Given the description of an element on the screen output the (x, y) to click on. 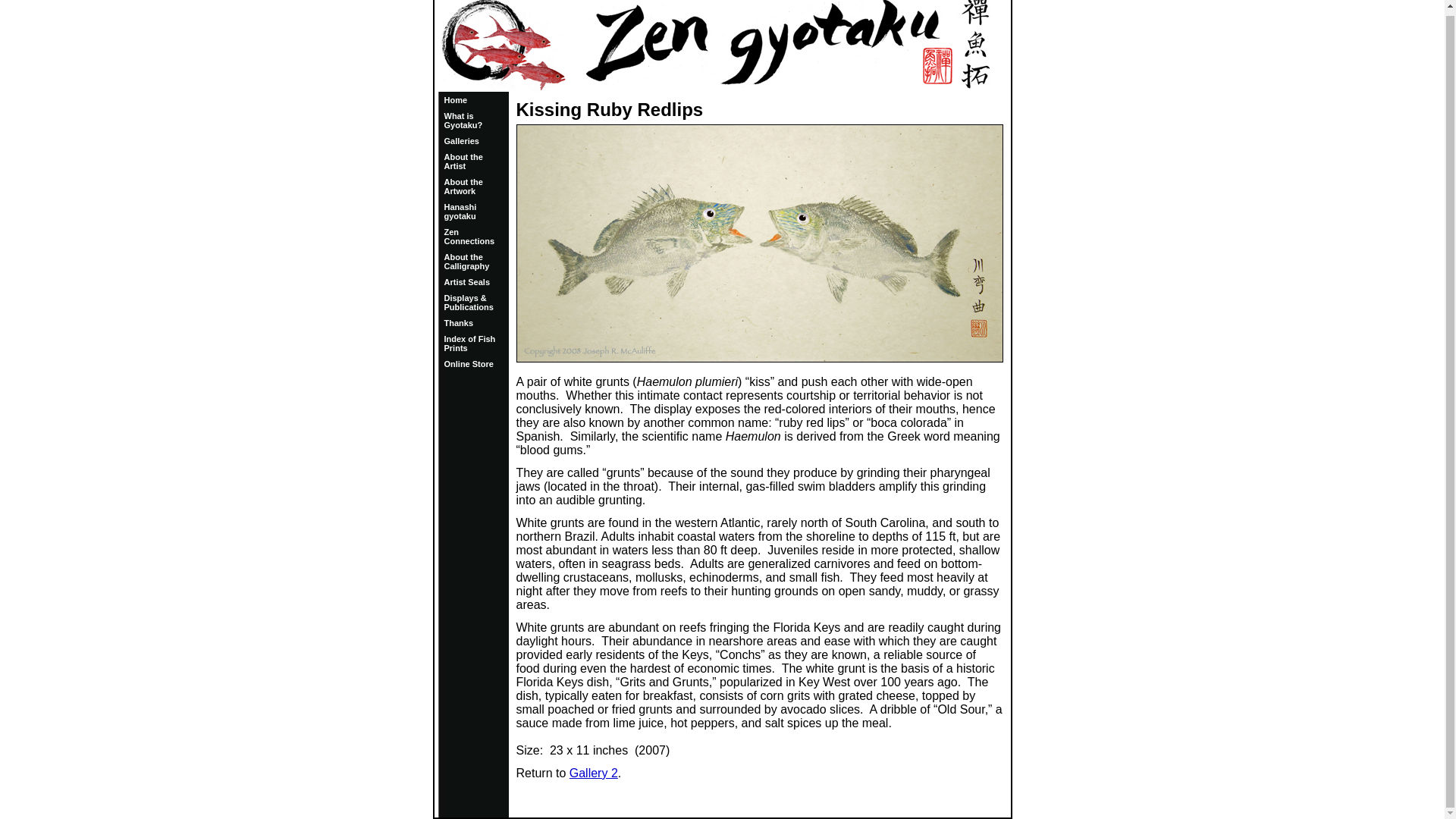
Galleries (461, 140)
Index of Fish Prints (470, 343)
Gallery 2 (593, 772)
Online Store (468, 363)
Home (455, 99)
Thanks (459, 322)
About the Calligraphy (466, 261)
Artist Seals (467, 281)
About the Artwork (463, 186)
What is Gyotaku? (463, 120)
Zen Connections (469, 236)
About the Artist (463, 161)
Hanashi gyotaku (460, 211)
